Given the description of an element on the screen output the (x, y) to click on. 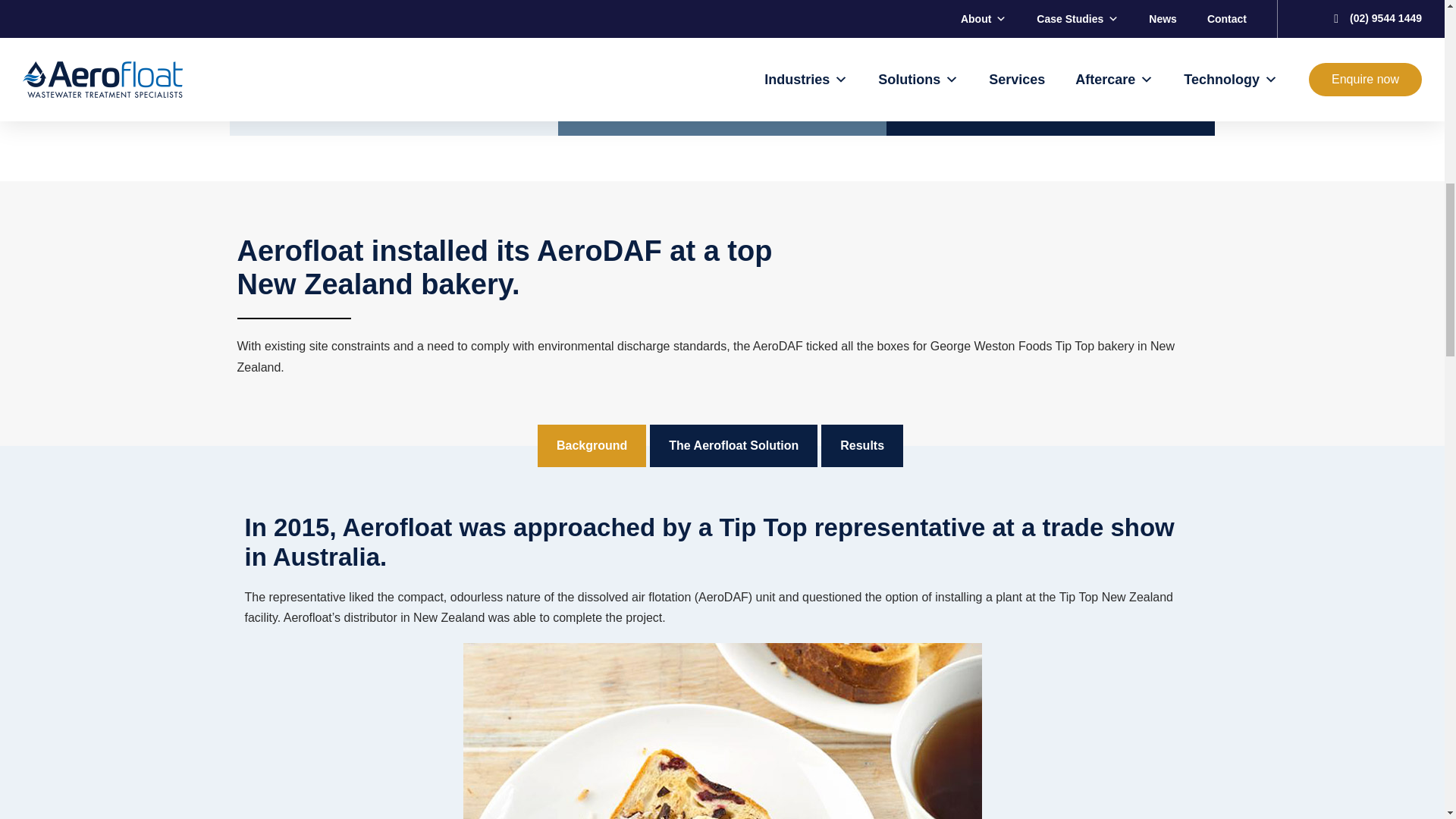
intro (722, 730)
